Given the description of an element on the screen output the (x, y) to click on. 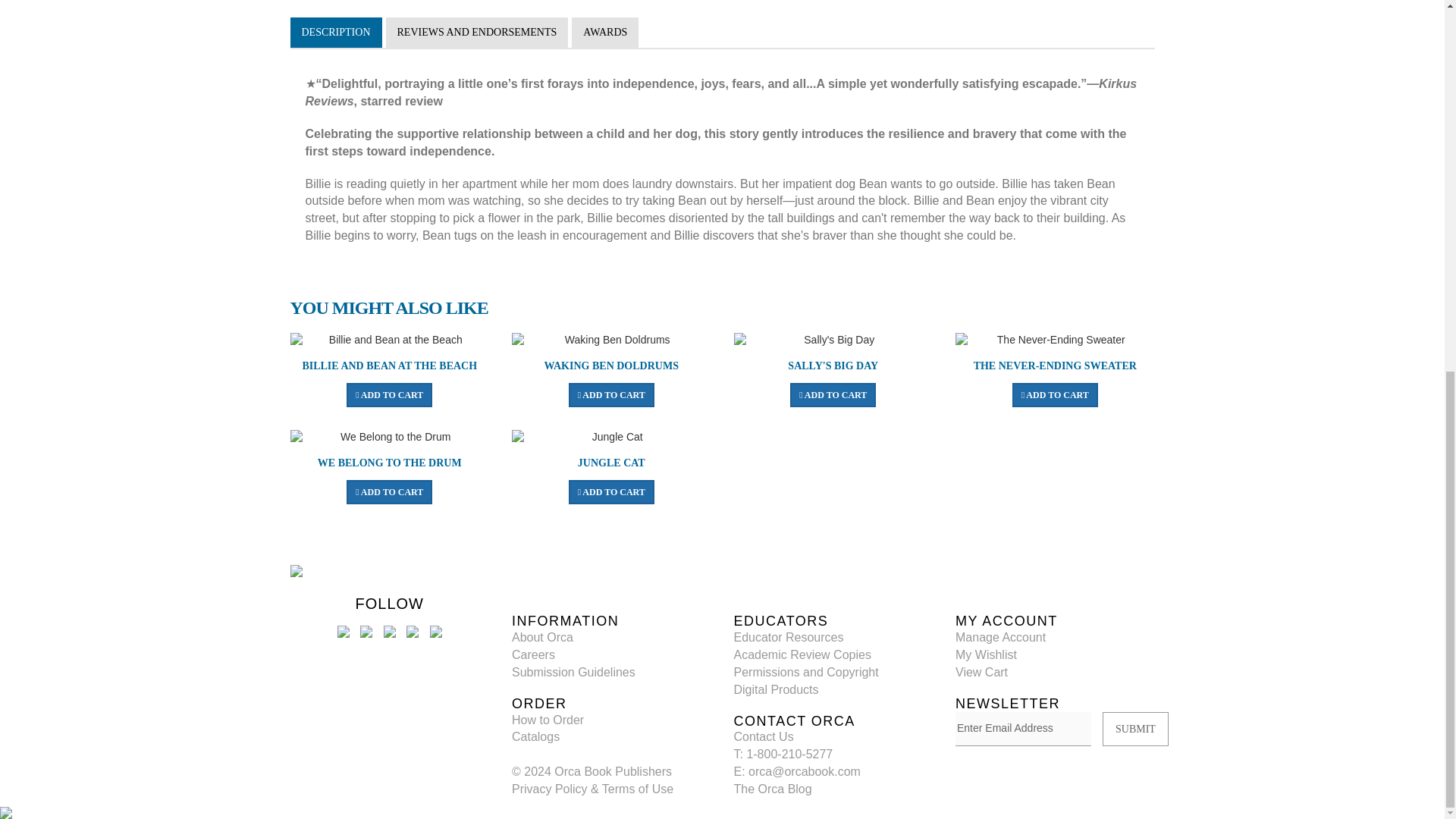
Enter Email Address (1022, 804)
Enter Email Address (1022, 804)
